Given the description of an element on the screen output the (x, y) to click on. 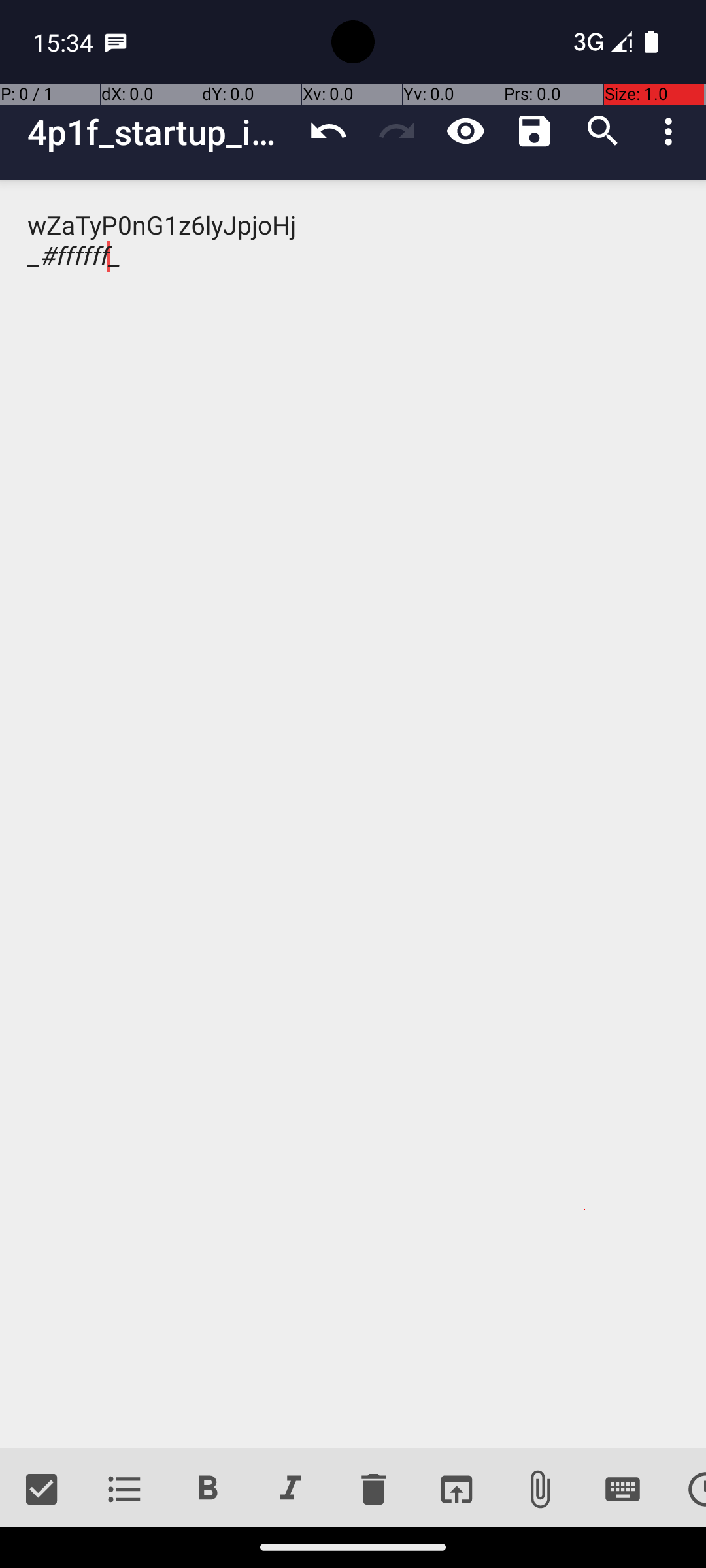
4p1f_startup_ideas_launch Element type: android.widget.TextView (160, 131)
wZaTyP0nG1z6lyJpjoHj
_#ffffff_ Element type: android.widget.EditText (353, 813)
